Given the description of an element on the screen output the (x, y) to click on. 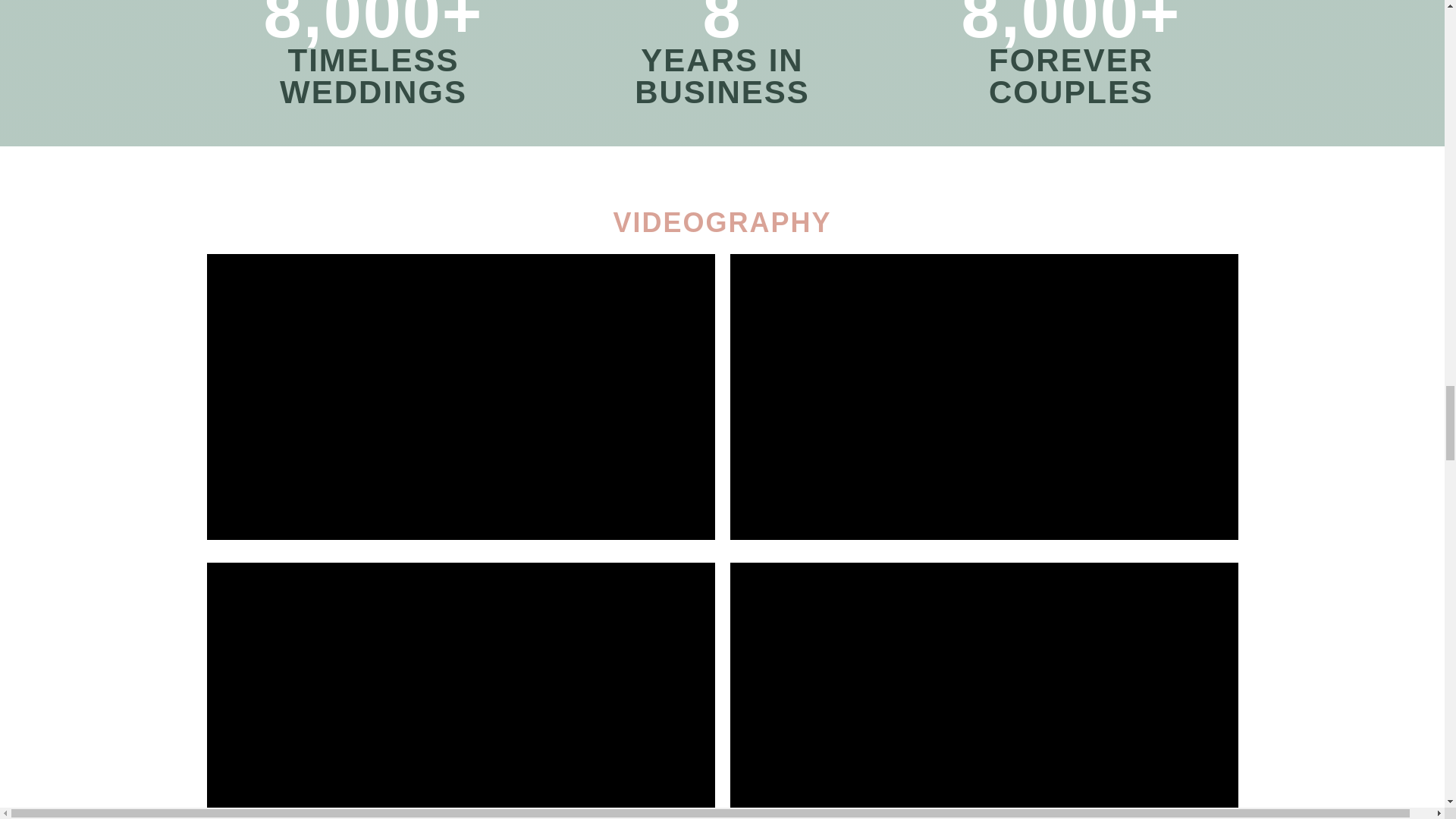
vimeo Video Player (983, 690)
vimeo Video Player (460, 690)
